Given the description of an element on the screen output the (x, y) to click on. 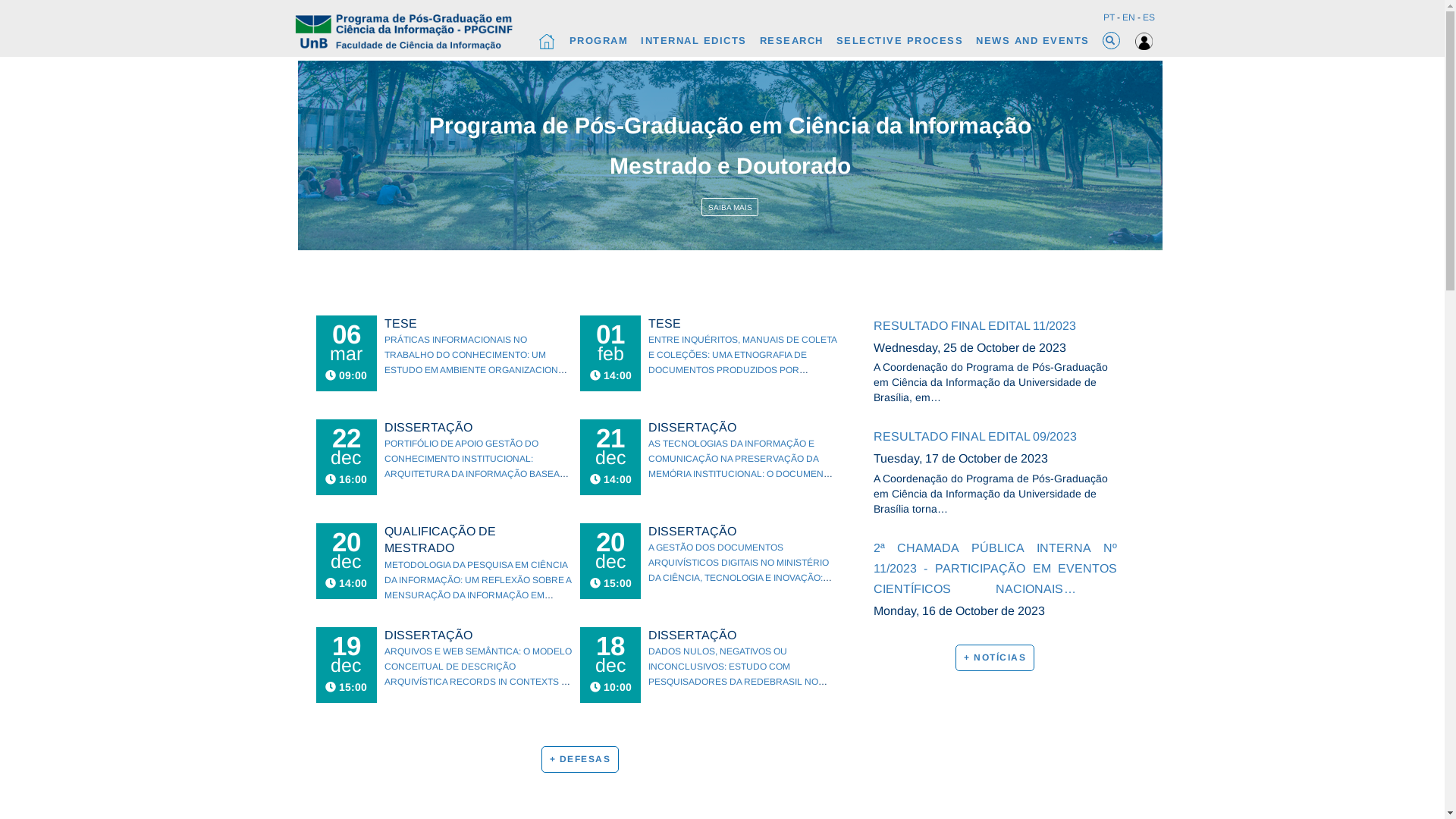
ES Element type: text (1148, 17)
SAIBA MAIS Element type: text (729, 206)
EN Element type: text (1128, 17)
PT Element type: text (1107, 17)
+ DEFESAS Element type: text (580, 759)
RESEARCH Element type: text (791, 40)
PROGRAM Element type: text (597, 40)
SELECTIVE PROCESS Element type: text (899, 40)
RESULTADO FINAL EDITAL 11/2023 Element type: text (995, 325)
RESULTADO FINAL EDITAL 09/2023 Element type: text (995, 436)
NEWS AND EVENTS Element type: text (1032, 40)
INTERNAL EDICTS Element type: text (693, 40)
